Given the description of an element on the screen output the (x, y) to click on. 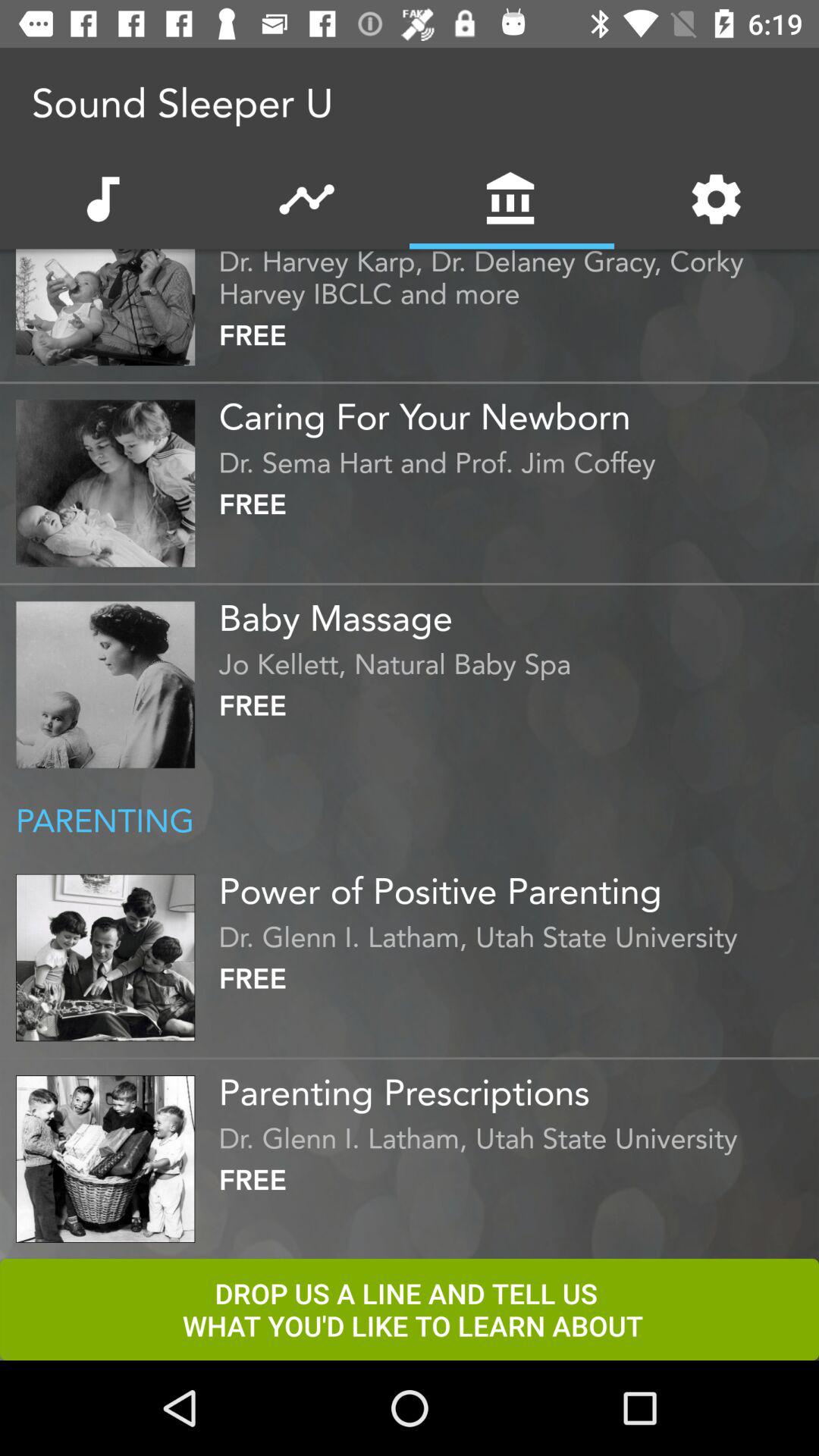
launch the parenting prescriptions icon (515, 1086)
